Given the description of an element on the screen output the (x, y) to click on. 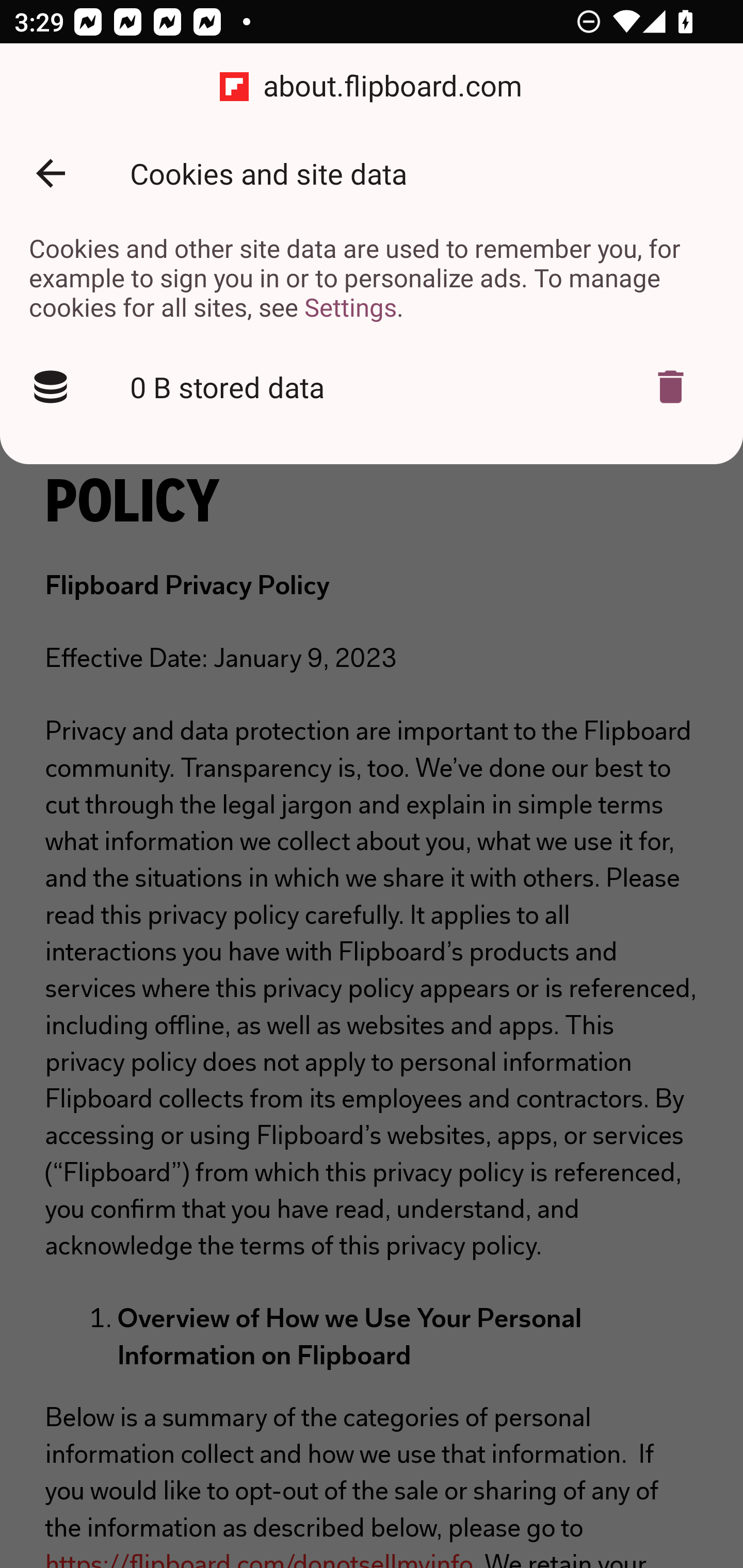
about.flipboard.com (371, 86)
Back (50, 173)
0 B stored data Delete cookies? (371, 386)
